Given the description of an element on the screen output the (x, y) to click on. 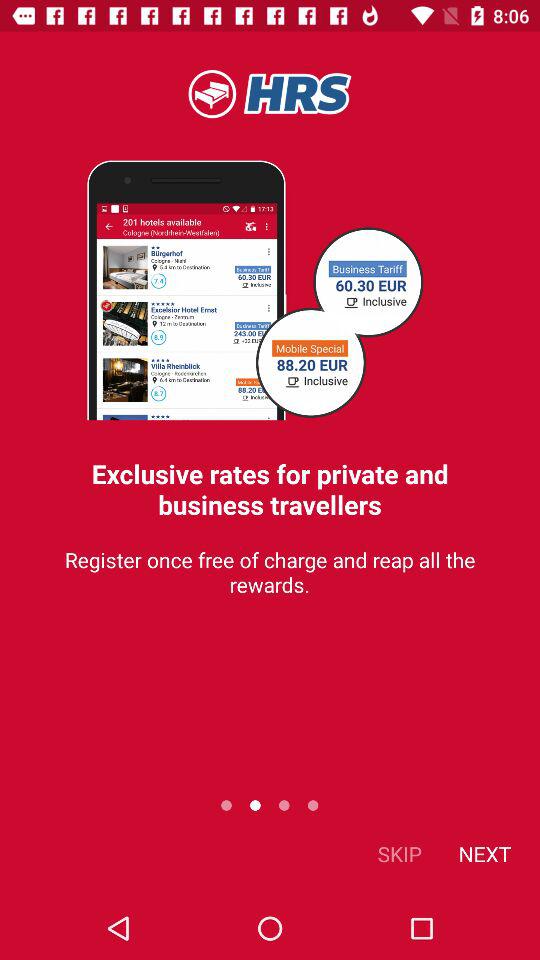
turn on the item to the left of next (399, 853)
